Given the description of an element on the screen output the (x, y) to click on. 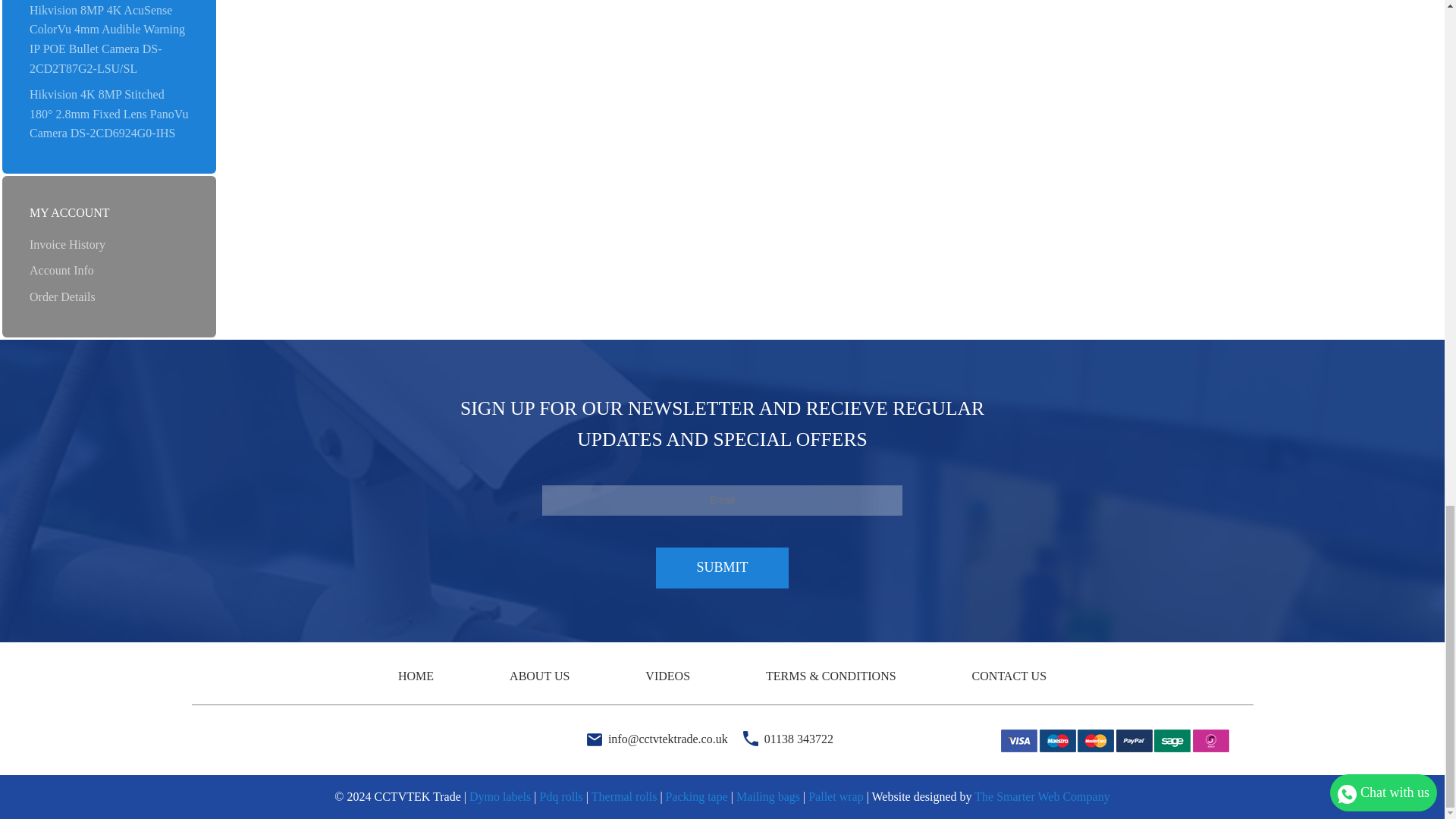
About Us (539, 675)
Home (415, 675)
Submit (722, 567)
